Given the description of an element on the screen output the (x, y) to click on. 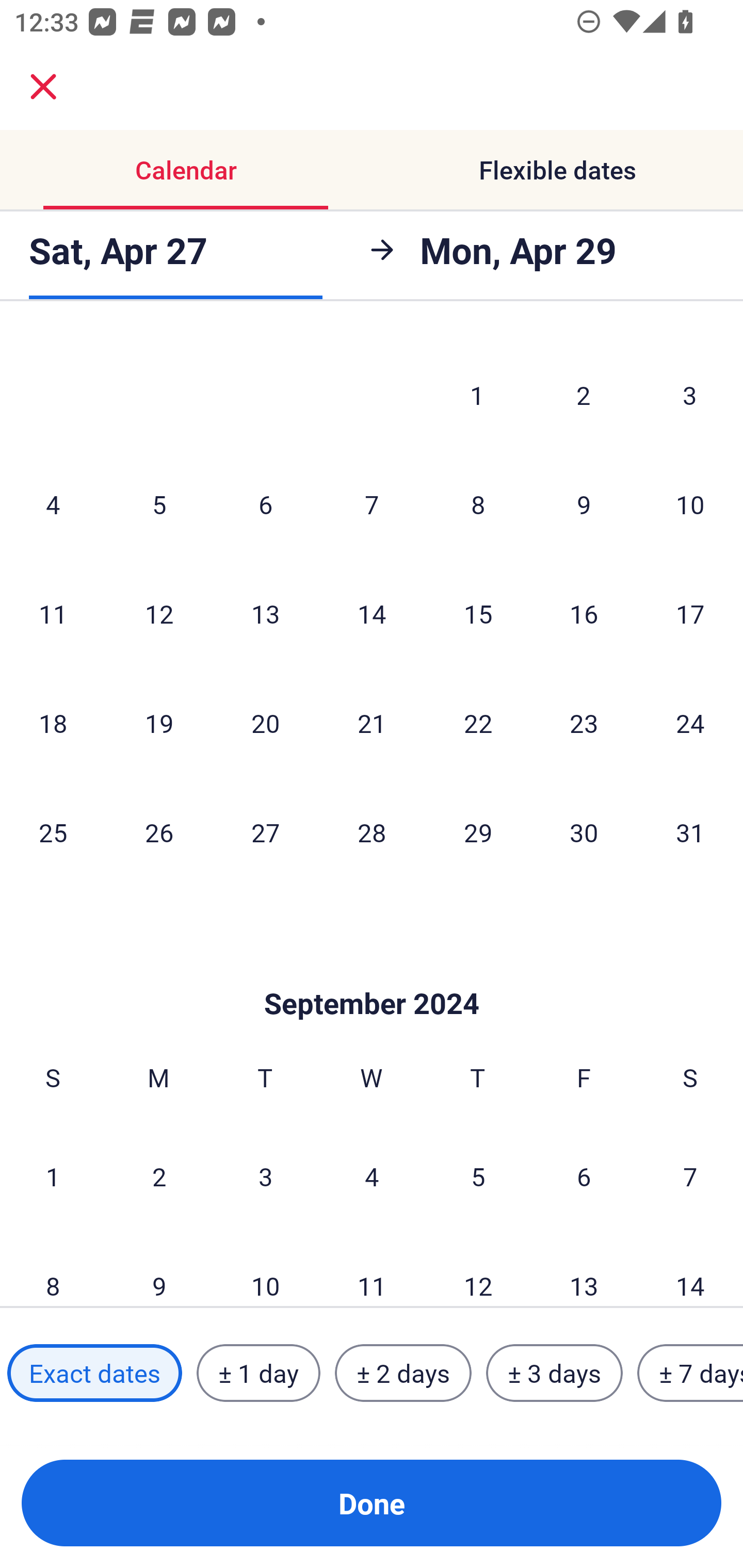
close. (43, 86)
Flexible dates (557, 170)
1 Thursday, August 1, 2024 (477, 394)
2 Friday, August 2, 2024 (583, 394)
3 Saturday, August 3, 2024 (689, 394)
4 Sunday, August 4, 2024 (53, 503)
5 Monday, August 5, 2024 (159, 503)
6 Tuesday, August 6, 2024 (265, 503)
7 Wednesday, August 7, 2024 (371, 503)
8 Thursday, August 8, 2024 (477, 503)
9 Friday, August 9, 2024 (584, 503)
10 Saturday, August 10, 2024 (690, 503)
11 Sunday, August 11, 2024 (53, 613)
12 Monday, August 12, 2024 (159, 613)
13 Tuesday, August 13, 2024 (265, 613)
14 Wednesday, August 14, 2024 (371, 613)
15 Thursday, August 15, 2024 (477, 613)
16 Friday, August 16, 2024 (584, 613)
17 Saturday, August 17, 2024 (690, 613)
18 Sunday, August 18, 2024 (53, 722)
19 Monday, August 19, 2024 (159, 722)
20 Tuesday, August 20, 2024 (265, 722)
21 Wednesday, August 21, 2024 (371, 722)
22 Thursday, August 22, 2024 (477, 722)
23 Friday, August 23, 2024 (584, 722)
24 Saturday, August 24, 2024 (690, 722)
25 Sunday, August 25, 2024 (53, 831)
26 Monday, August 26, 2024 (159, 831)
27 Tuesday, August 27, 2024 (265, 831)
28 Wednesday, August 28, 2024 (371, 831)
29 Thursday, August 29, 2024 (477, 831)
30 Friday, August 30, 2024 (584, 831)
31 Saturday, August 31, 2024 (690, 831)
Skip to Done (371, 972)
1 Sunday, September 1, 2024 (53, 1175)
2 Monday, September 2, 2024 (159, 1175)
3 Tuesday, September 3, 2024 (265, 1175)
4 Wednesday, September 4, 2024 (371, 1175)
5 Thursday, September 5, 2024 (477, 1175)
6 Friday, September 6, 2024 (584, 1175)
7 Saturday, September 7, 2024 (690, 1175)
8 Sunday, September 8, 2024 (53, 1269)
9 Monday, September 9, 2024 (159, 1269)
10 Tuesday, September 10, 2024 (265, 1269)
11 Wednesday, September 11, 2024 (371, 1269)
12 Thursday, September 12, 2024 (477, 1269)
13 Friday, September 13, 2024 (584, 1269)
14 Saturday, September 14, 2024 (690, 1269)
Exact dates (94, 1372)
± 1 day (258, 1372)
